Given the description of an element on the screen output the (x, y) to click on. 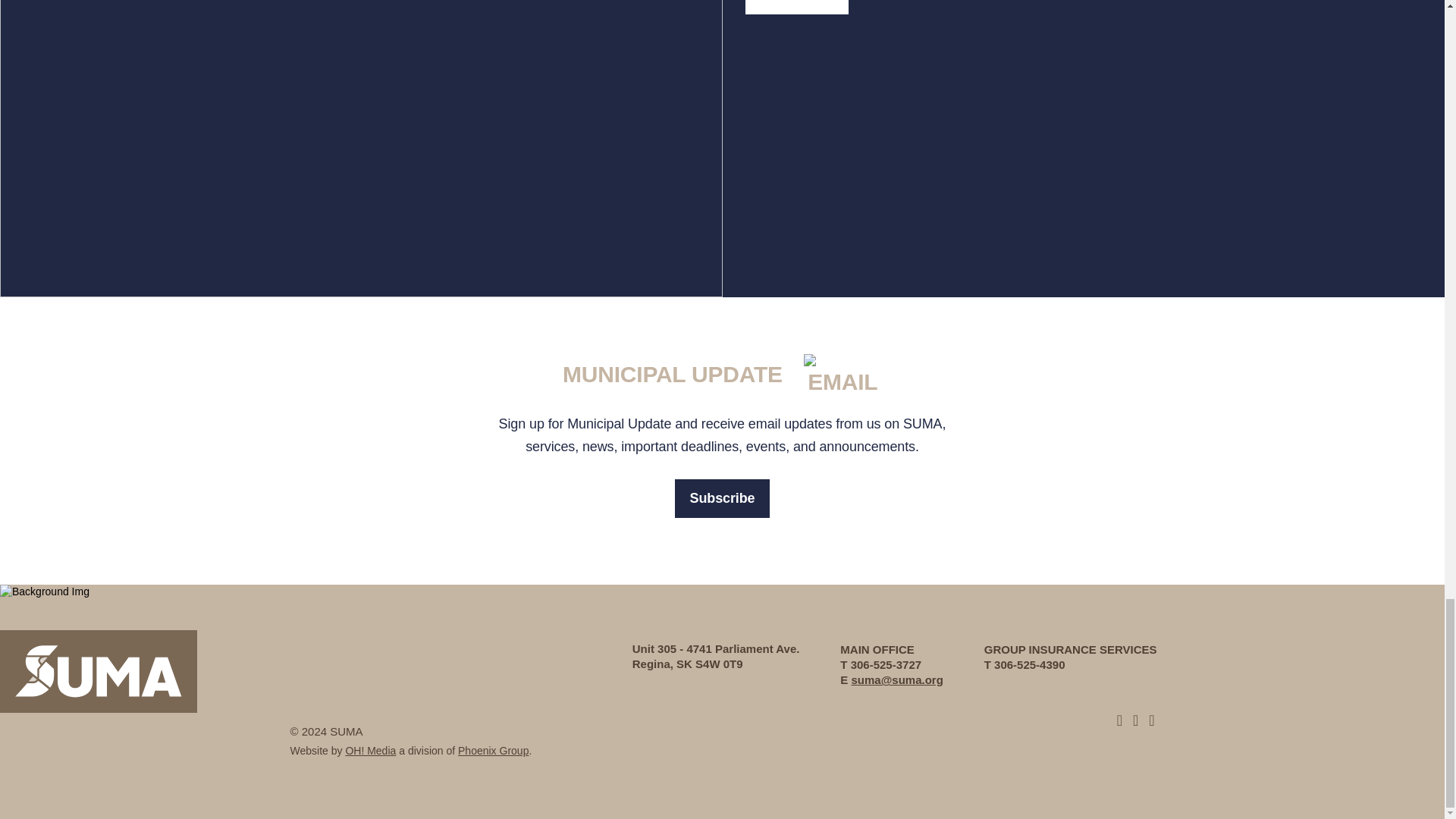
Background Img (44, 591)
Email (842, 375)
Phoenix Group (493, 750)
SUMA (98, 671)
OH! Media (370, 750)
